Given the description of an element on the screen output the (x, y) to click on. 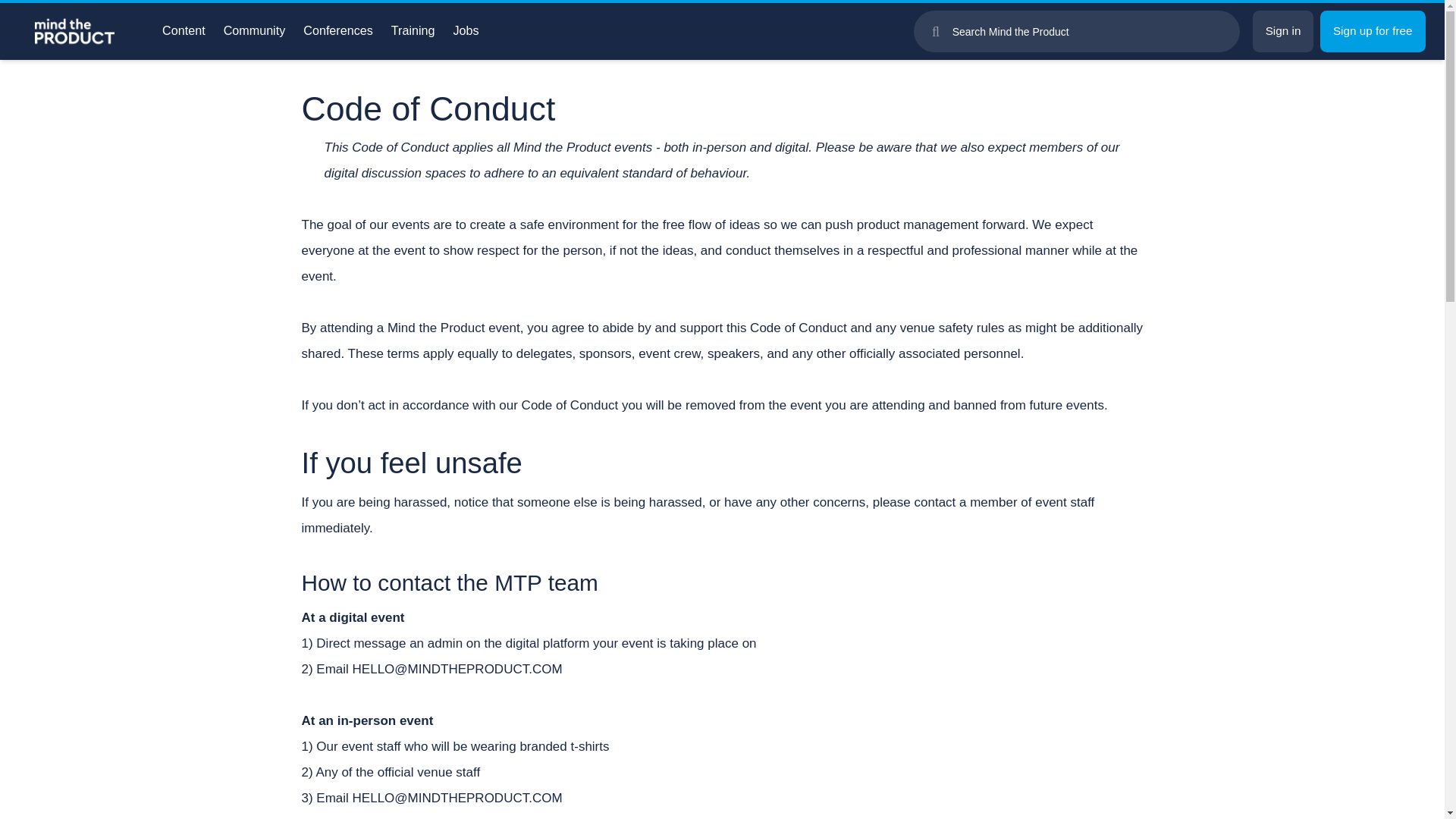
Community (254, 30)
Conferences (337, 30)
Mind the Product (183, 30)
Content (183, 30)
Community (254, 30)
Mind the Product (67, 31)
